Given the description of an element on the screen output the (x, y) to click on. 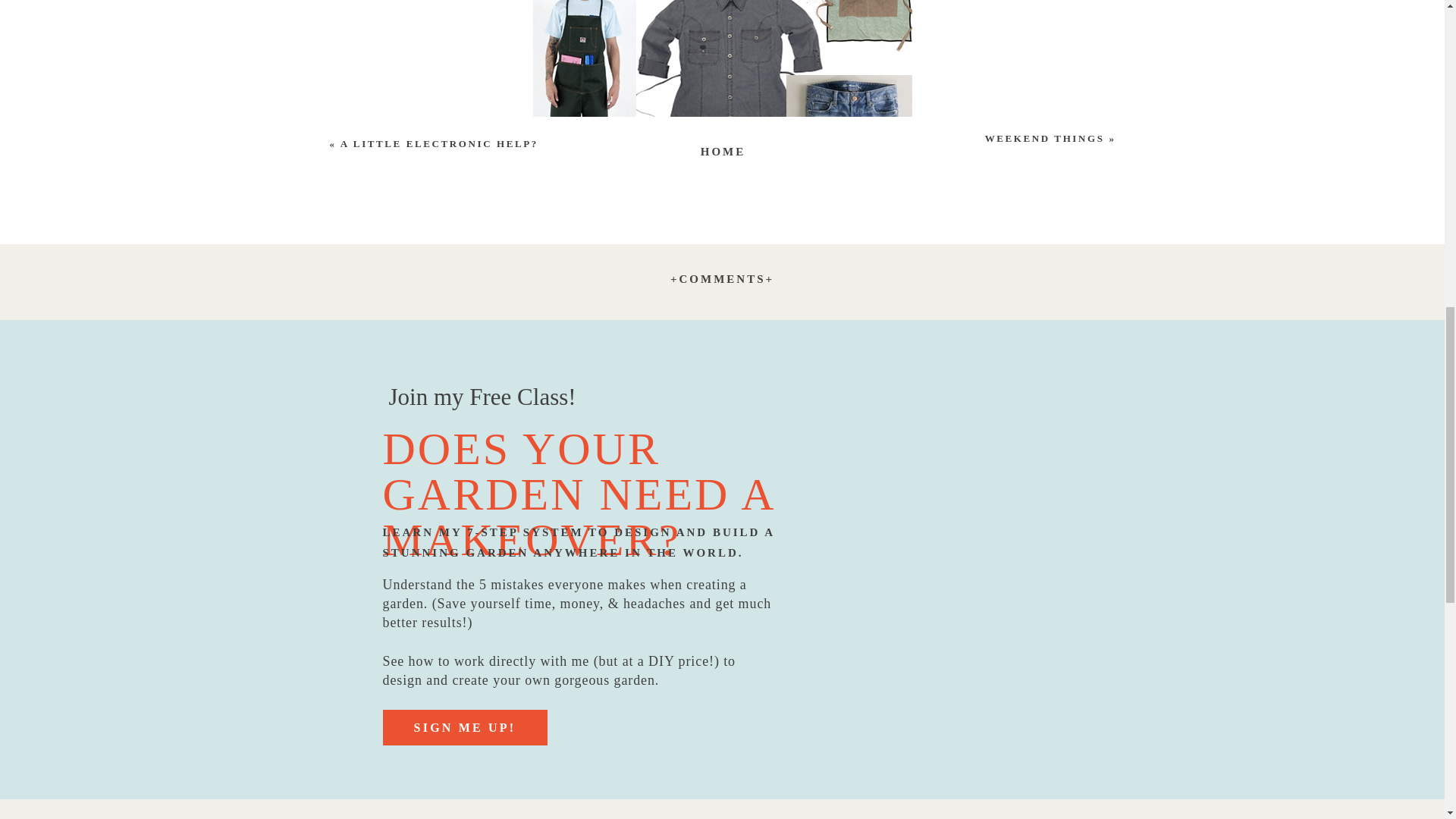
mud season (721, 169)
HOME (723, 149)
Ben Davis Teamsters Apron (721, 561)
Hycreek Work Shir (465, 607)
Cuter than average ear gear (424, 517)
A LITTLE ELECTRONIC HELP? (439, 143)
this raincoat (893, 405)
wooden helmets (621, 461)
The Field House Trusty Workshop Apron from Blackbird (741, 550)
8841772072990 (721, 791)
